Given the description of an element on the screen output the (x, y) to click on. 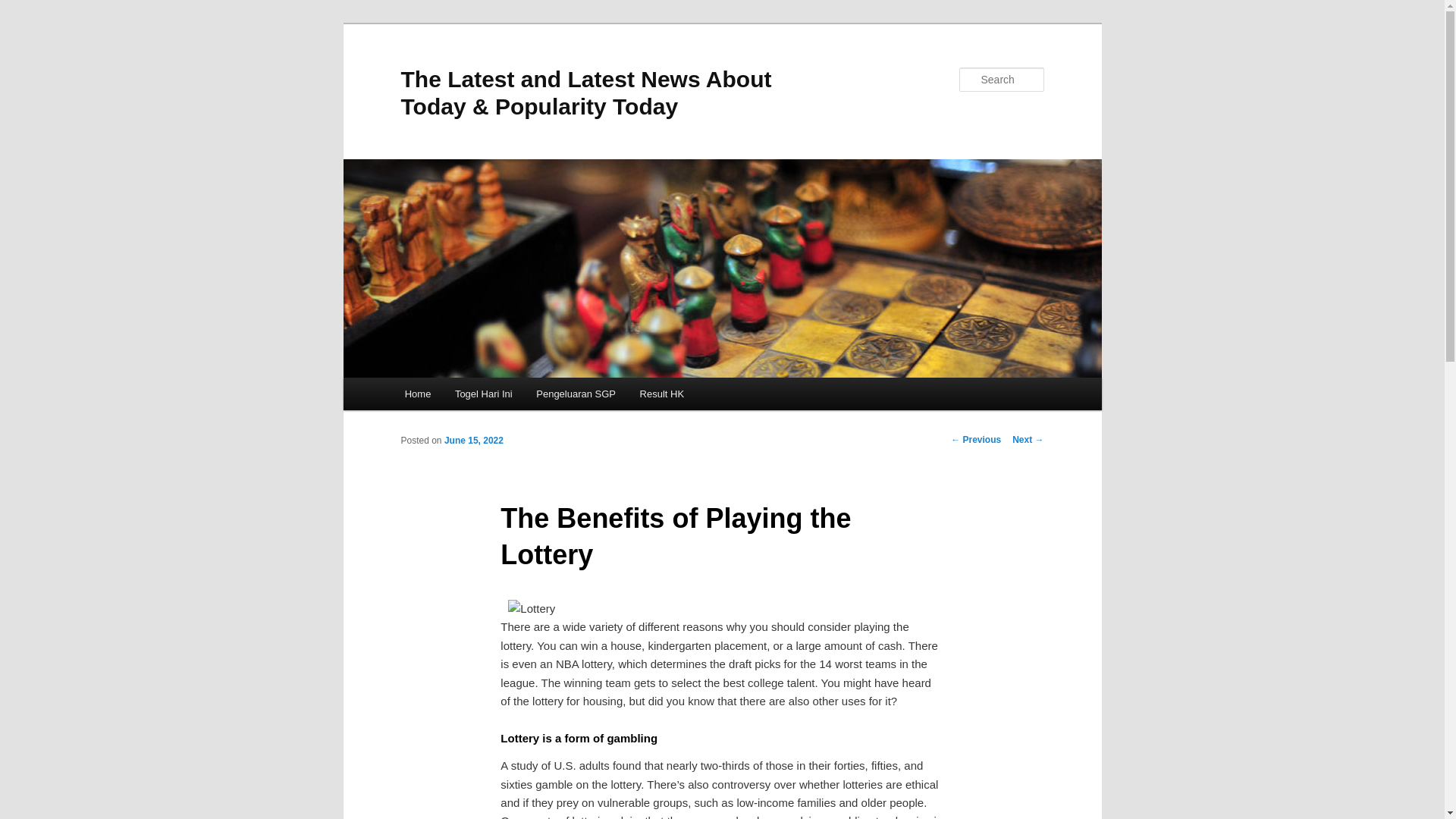
Togel Hari Ini (483, 393)
Pengeluaran SGP (575, 393)
Search (24, 8)
June 15, 2022 (473, 439)
Result HK (661, 393)
Home (417, 393)
3:16 pm (473, 439)
